Given the description of an element on the screen output the (x, y) to click on. 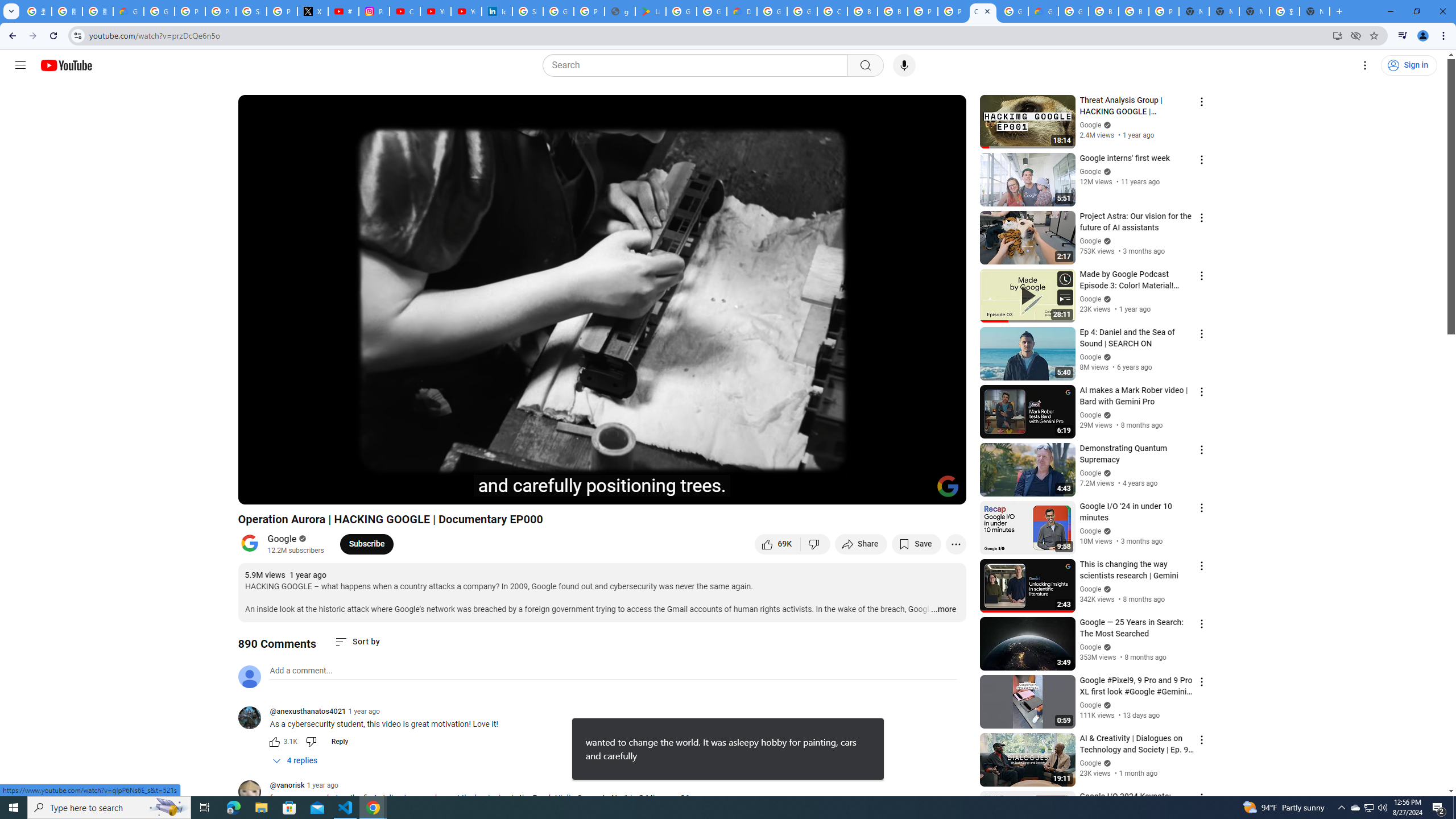
Browse Chrome as a guest - Computer - Google Chrome Help (1103, 11)
Google Cloud Estimate Summary (1042, 11)
YouTube Home (66, 65)
Default profile photo (248, 676)
Privacy Help Center - Policies Help (220, 11)
1 year ago (322, 785)
